Given the description of an element on the screen output the (x, y) to click on. 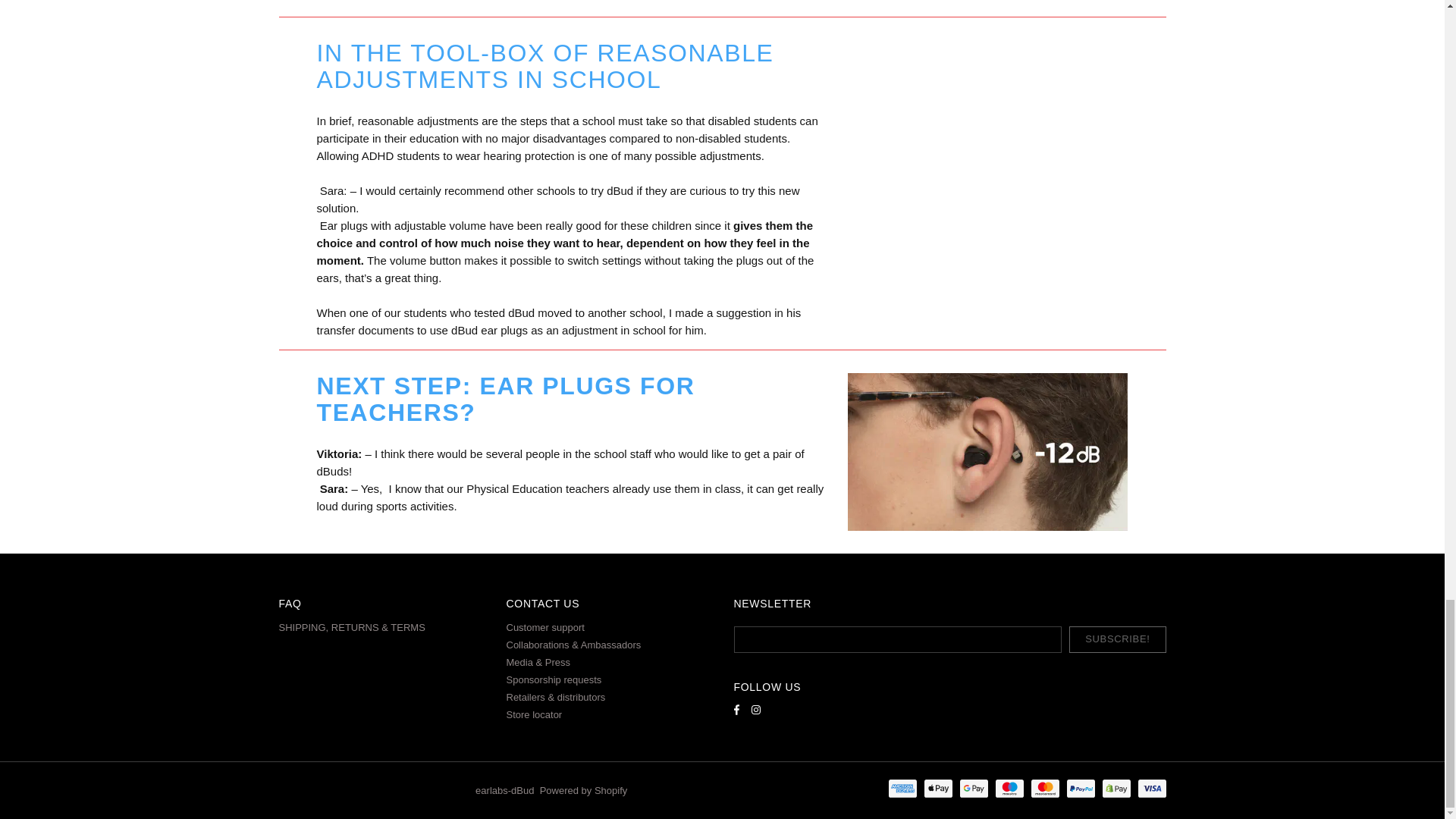
Sponsorship requests (554, 679)
Customer support (545, 626)
Powered by Shopify (583, 789)
SUBSCRIBE! (1117, 639)
earlabs-dBud (330, 790)
earlabs-dBud (505, 789)
Store locator (534, 714)
SUBSCRIBE! (1117, 639)
